Given the description of an element on the screen output the (x, y) to click on. 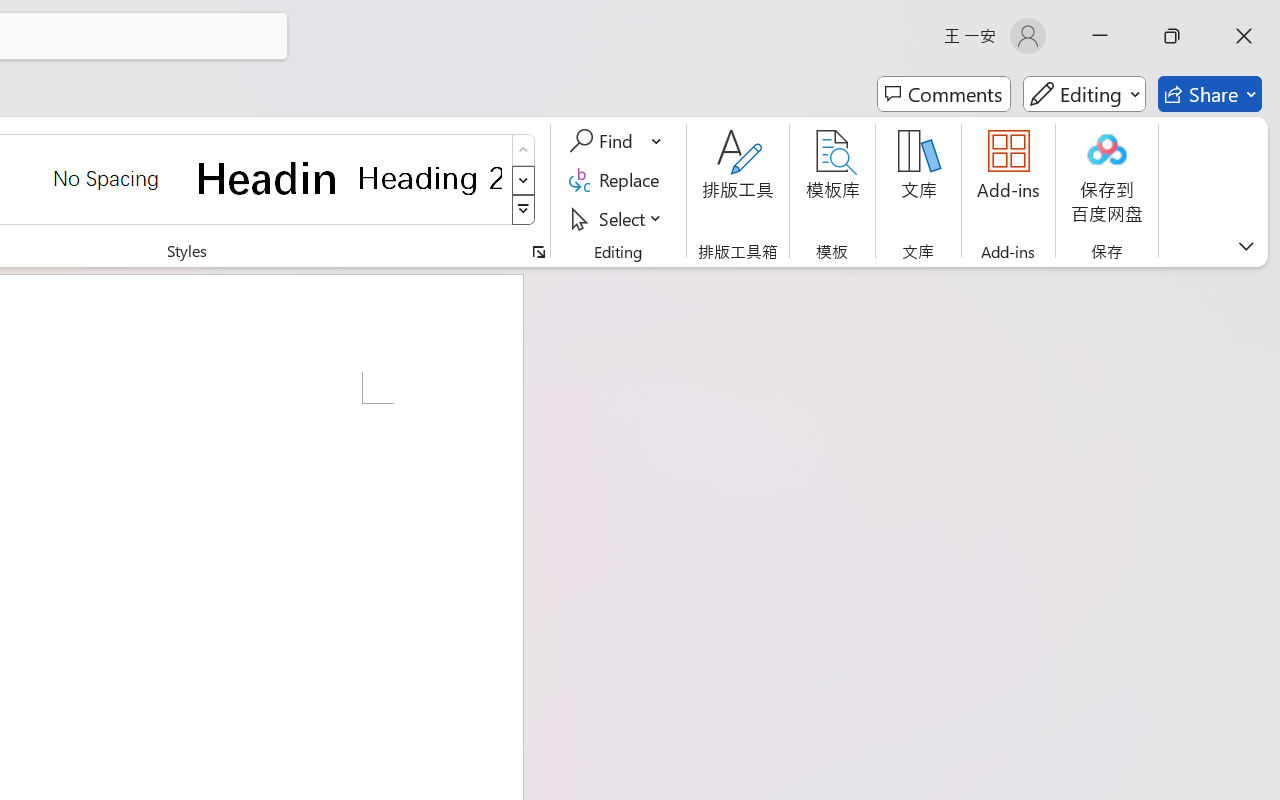
Select (618, 218)
Styles... (538, 252)
